Given the description of an element on the screen output the (x, y) to click on. 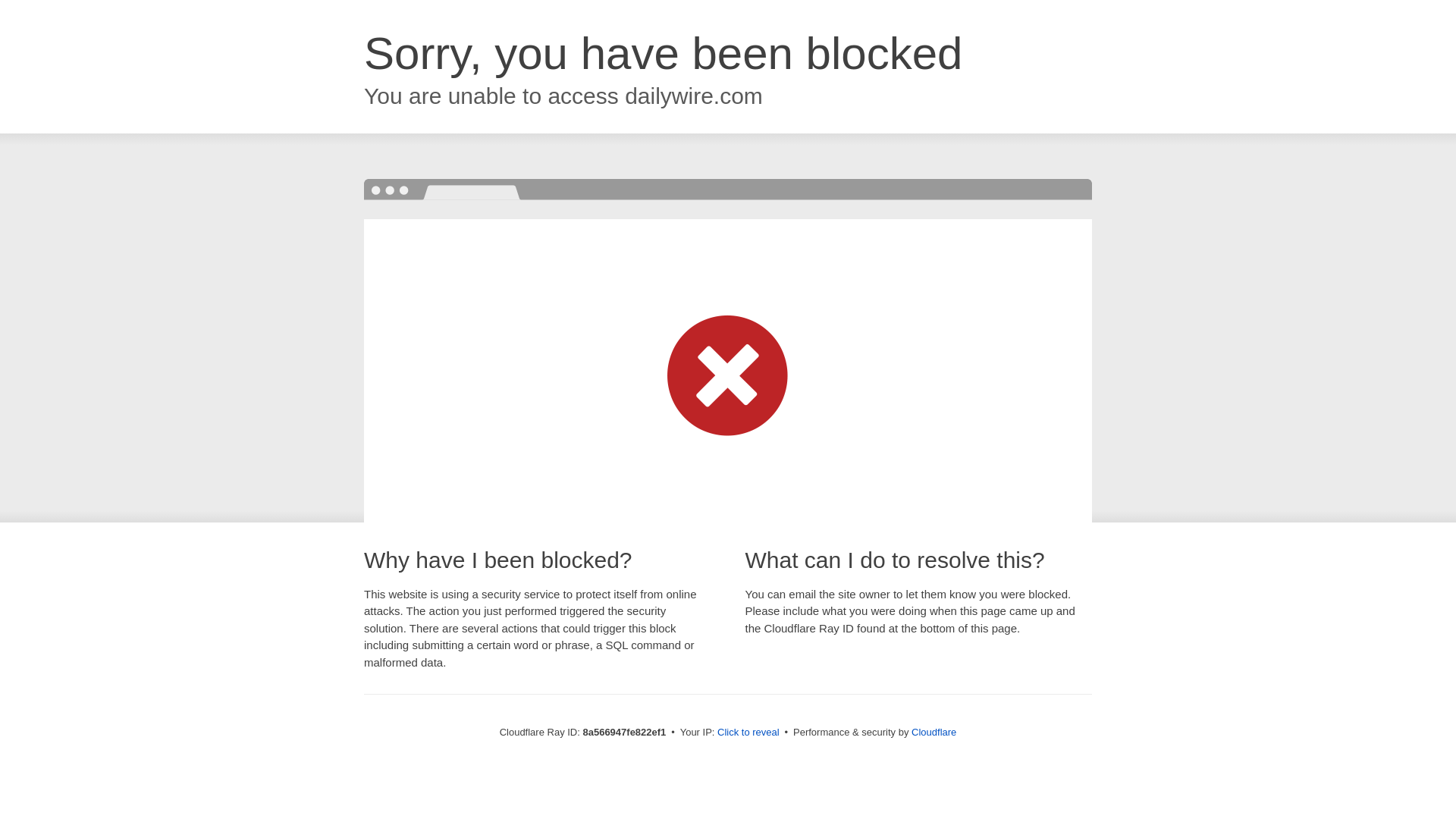
Cloudflare (933, 731)
Click to reveal (747, 732)
